Given the description of an element on the screen output the (x, y) to click on. 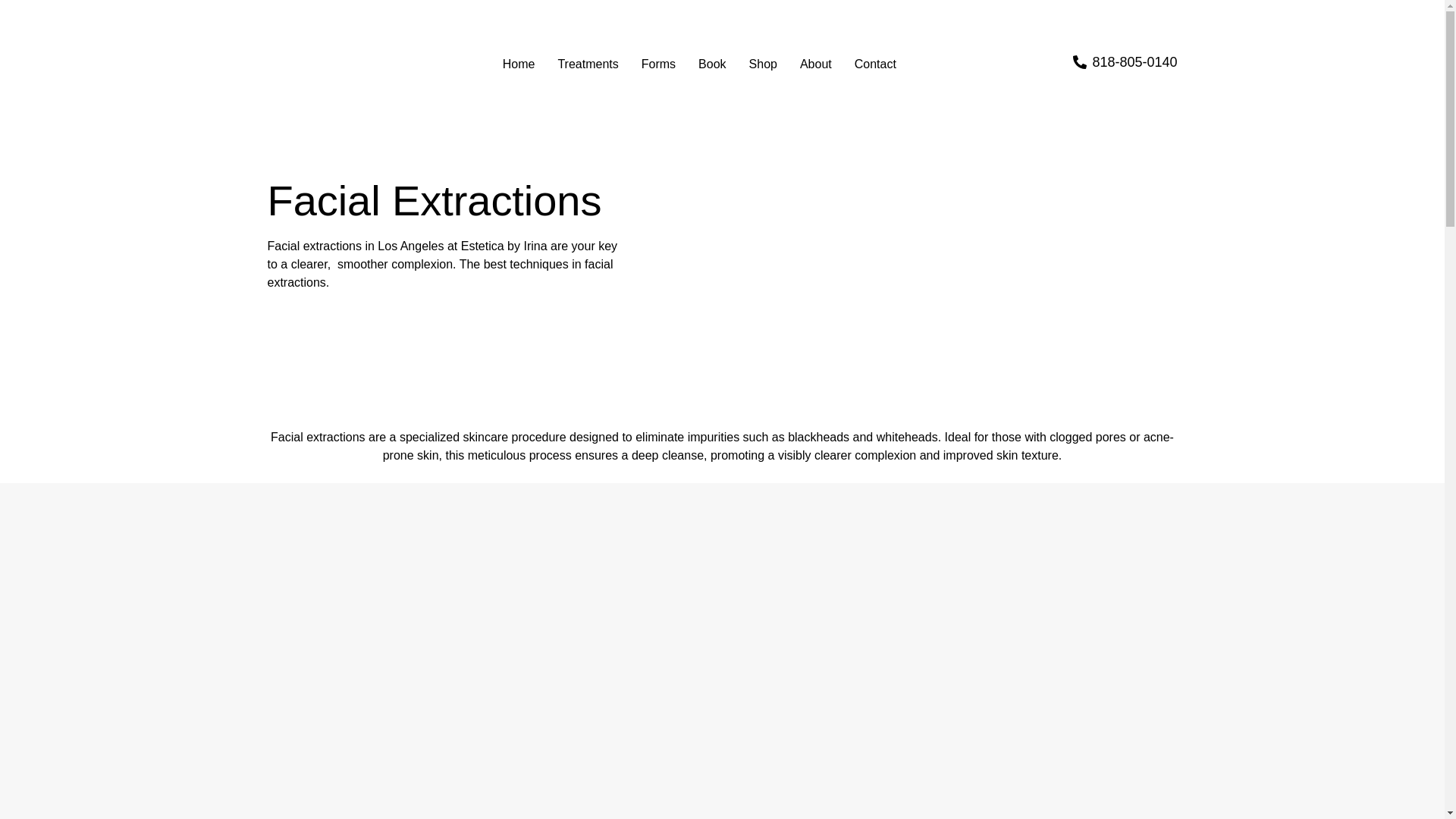
Contact (875, 64)
Book (711, 64)
Forms (658, 64)
Shop (763, 64)
818-805-0140 (1124, 62)
About (816, 64)
Treatments (587, 64)
Home (519, 64)
